Given the description of an element on the screen output the (x, y) to click on. 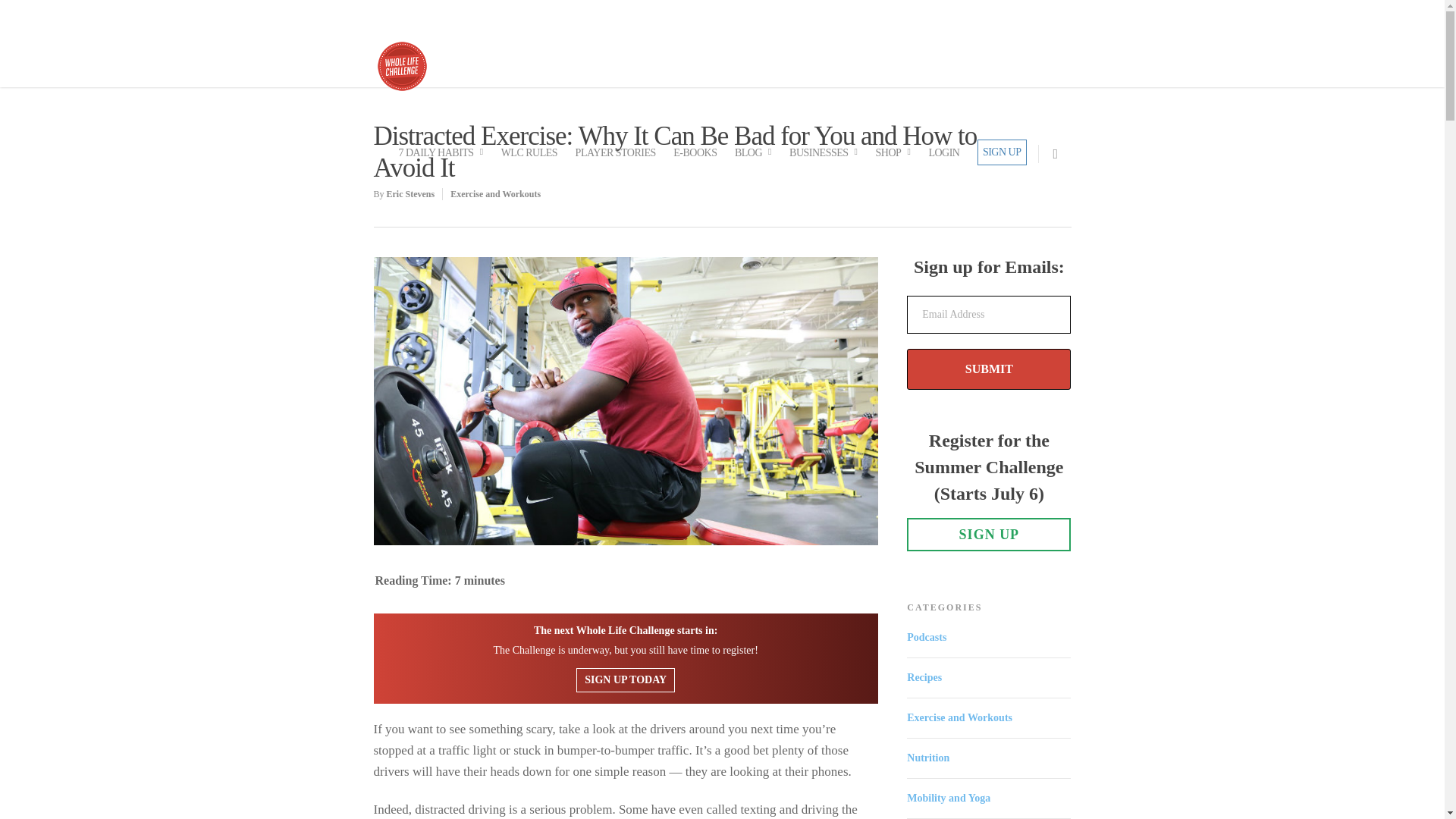
BUSINESSES (828, 161)
PLAYER STORIES (615, 160)
7 DAILY HABITS (445, 161)
Help widget launcher (1368, 781)
Posts by Eric Stevens (411, 194)
